Given the description of an element on the screen output the (x, y) to click on. 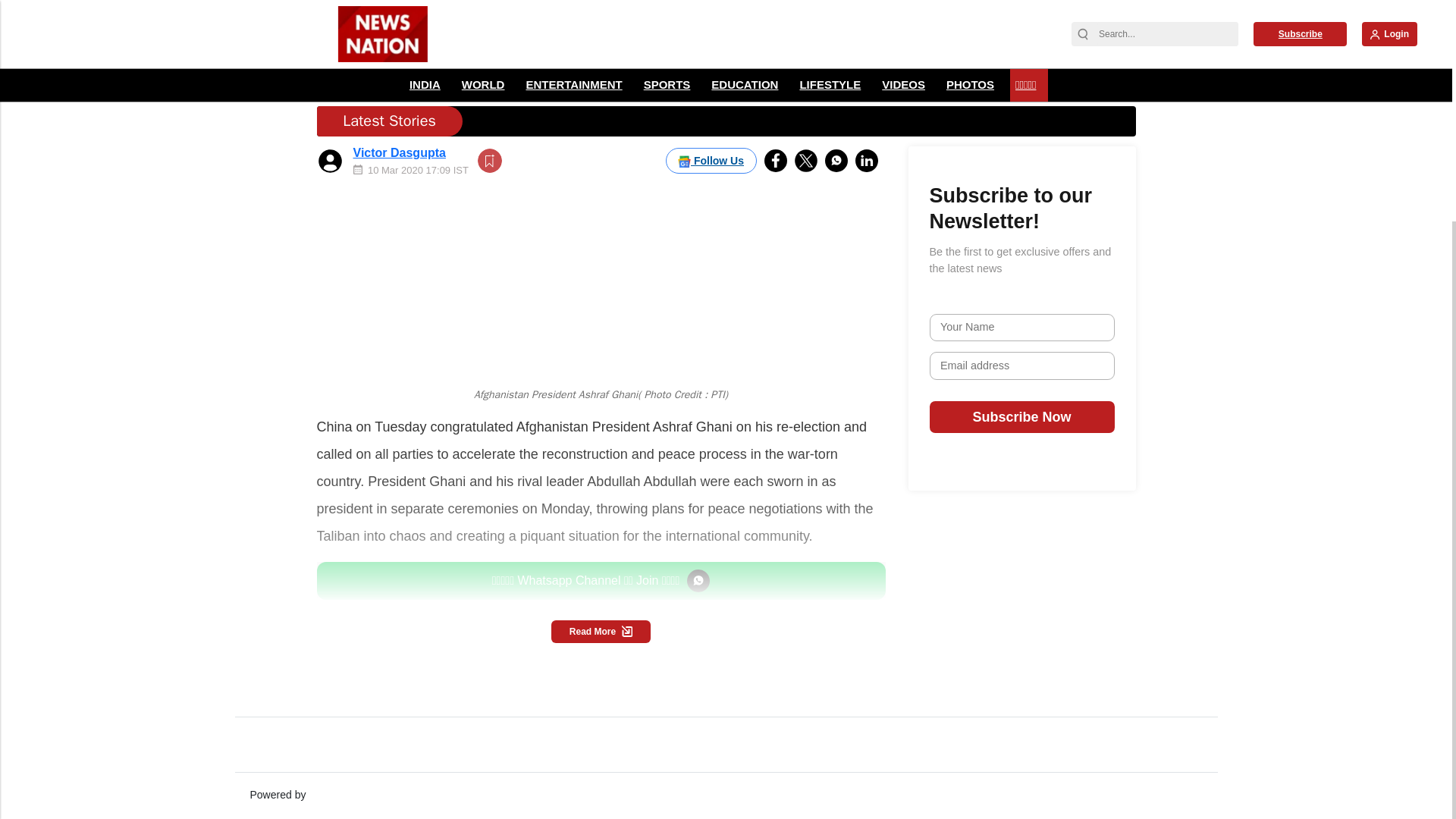
Victor Dasgupta (399, 91)
Follow Us (711, 99)
